Given the description of an element on the screen output the (x, y) to click on. 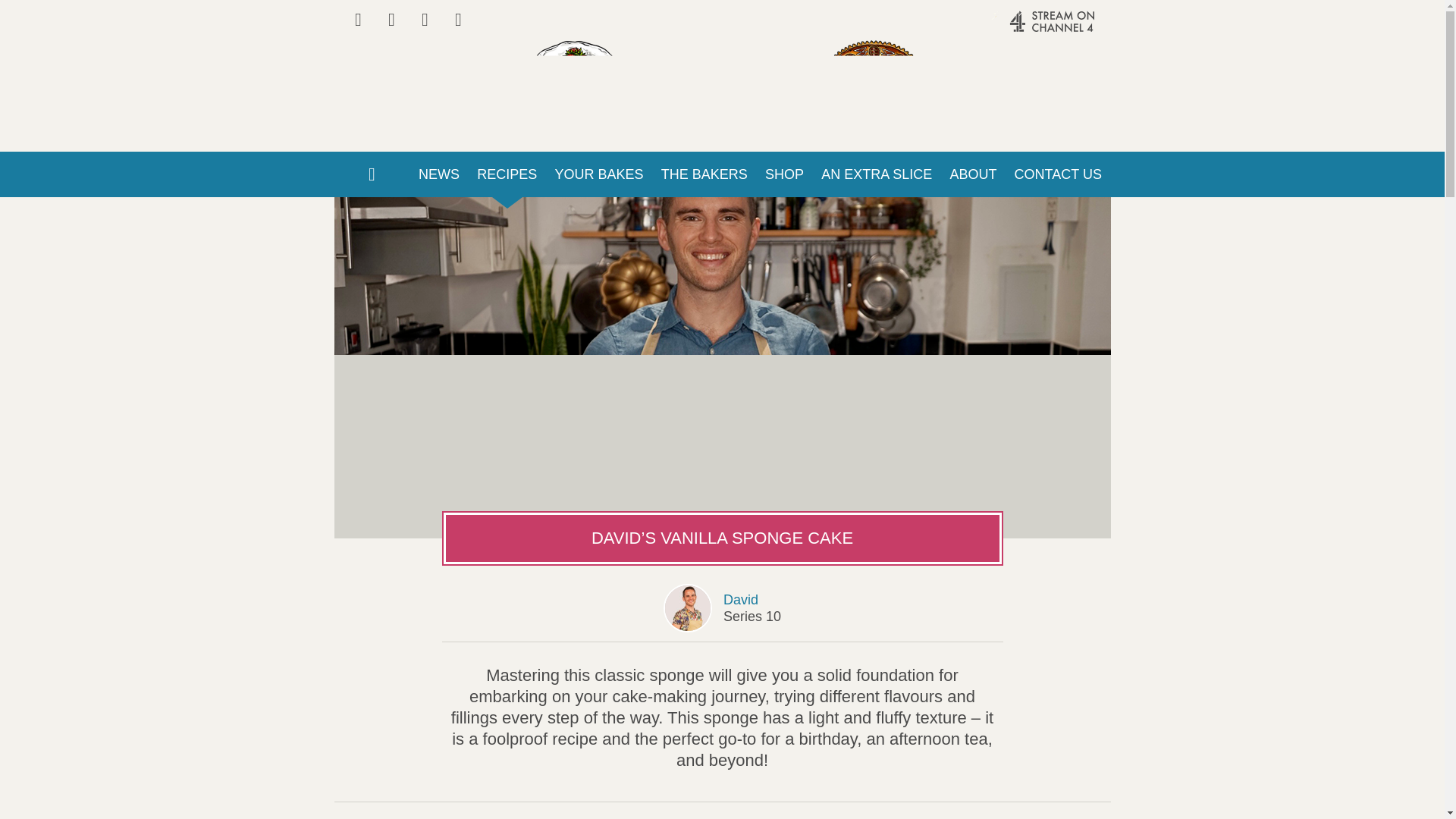
AN EXTRA SLICE (876, 174)
ABOUT (973, 174)
CONTACT US (1058, 174)
The Great British Bake Off (721, 50)
HOME (371, 174)
David (746, 599)
YOUR BAKES (599, 174)
RECIPES (507, 174)
NEWS (438, 174)
THE BAKERS (703, 174)
